Given the description of an element on the screen output the (x, y) to click on. 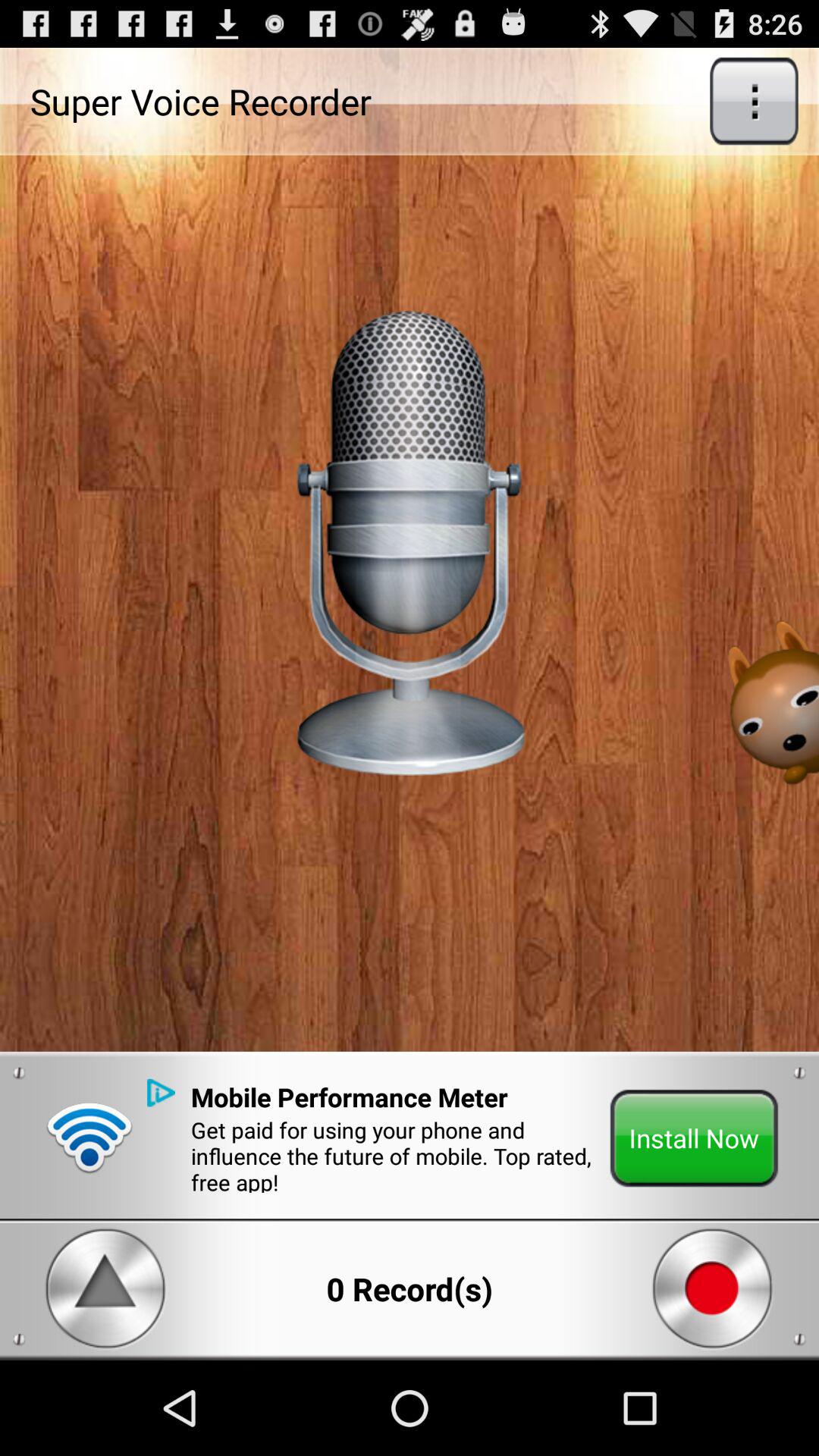
click the play button from the bottom (105, 1289)
click the stop button from the bottom (713, 1289)
click on the green button which is bottom right side of the page (694, 1138)
